Given the description of an element on the screen output the (x, y) to click on. 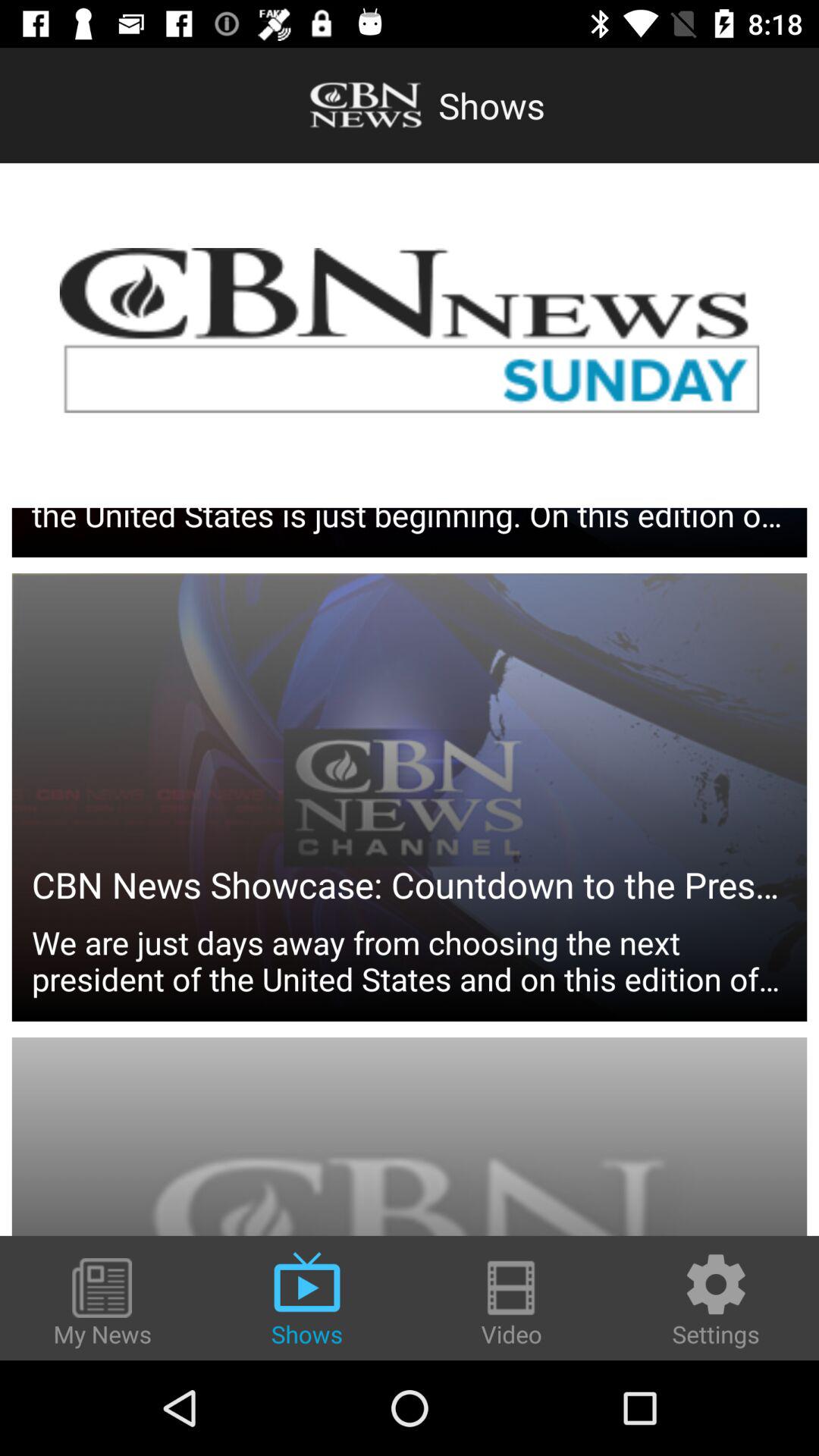
launch item next to video item (715, 1299)
